Given the description of an element on the screen output the (x, y) to click on. 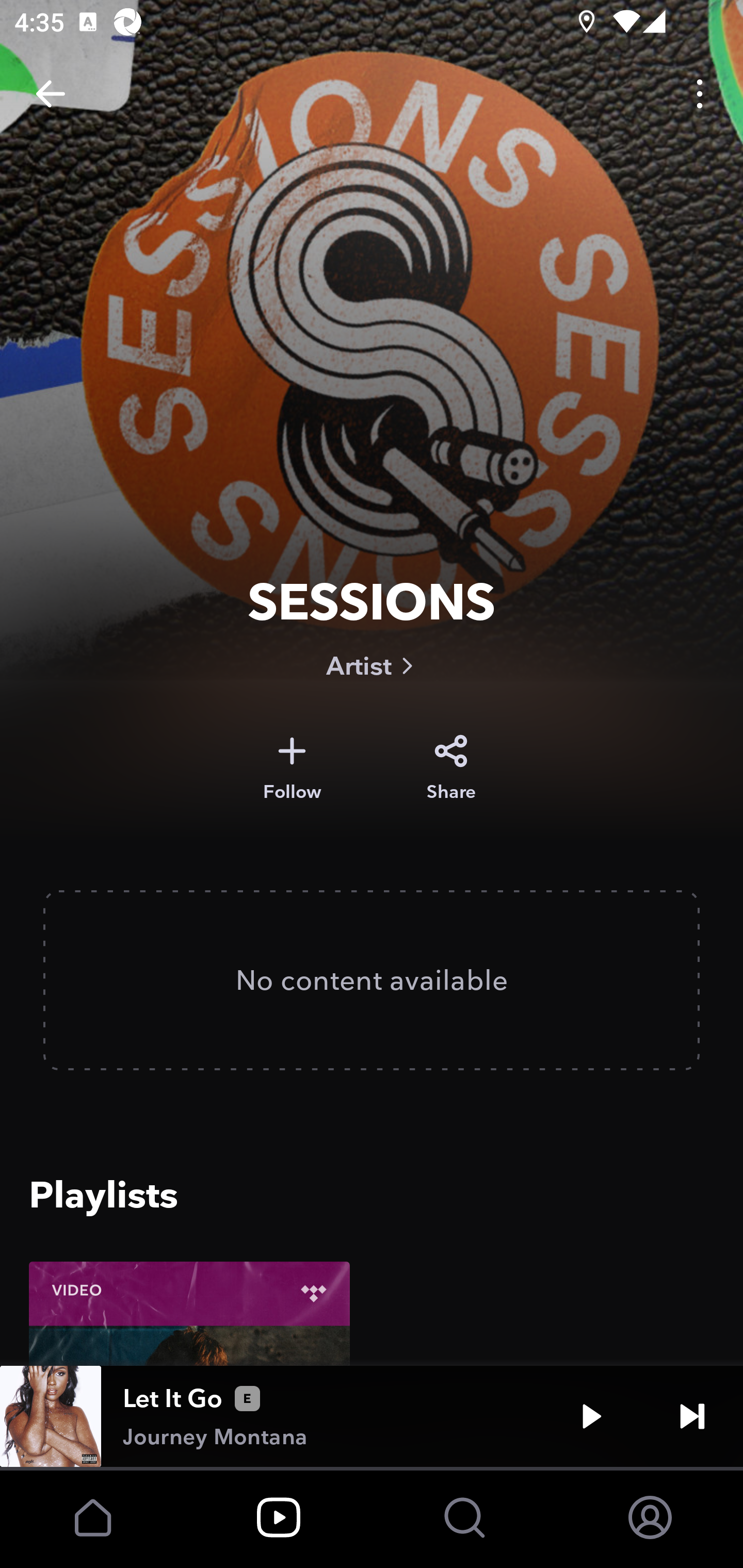
Options (699, 93)
Artist (371, 665)
Follow (291, 767)
Share (450, 767)
Let It Go    Journey Montana Play (371, 1416)
Play (590, 1416)
